Given the description of an element on the screen output the (x, y) to click on. 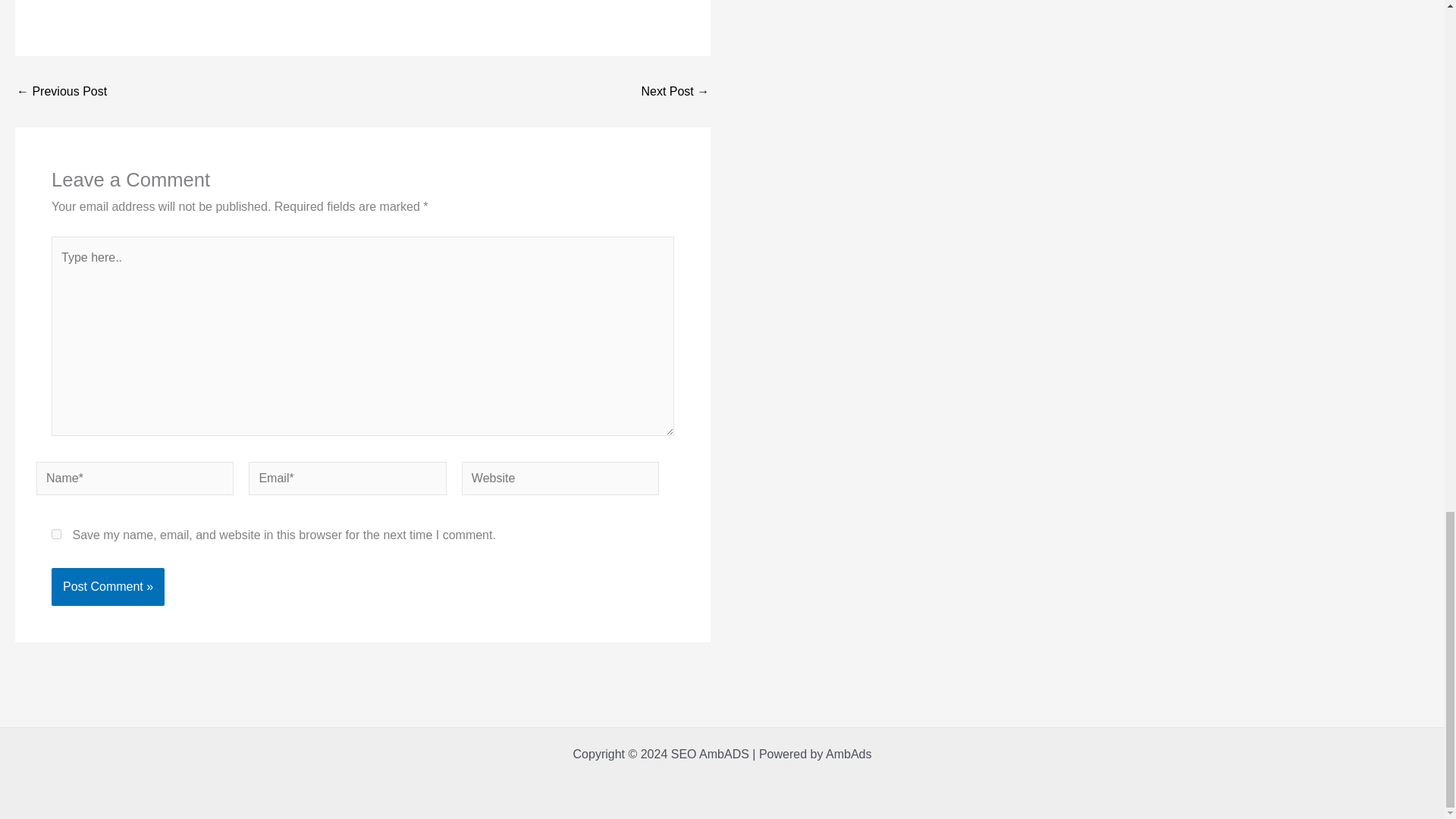
yes (55, 533)
